Given the description of an element on the screen output the (x, y) to click on. 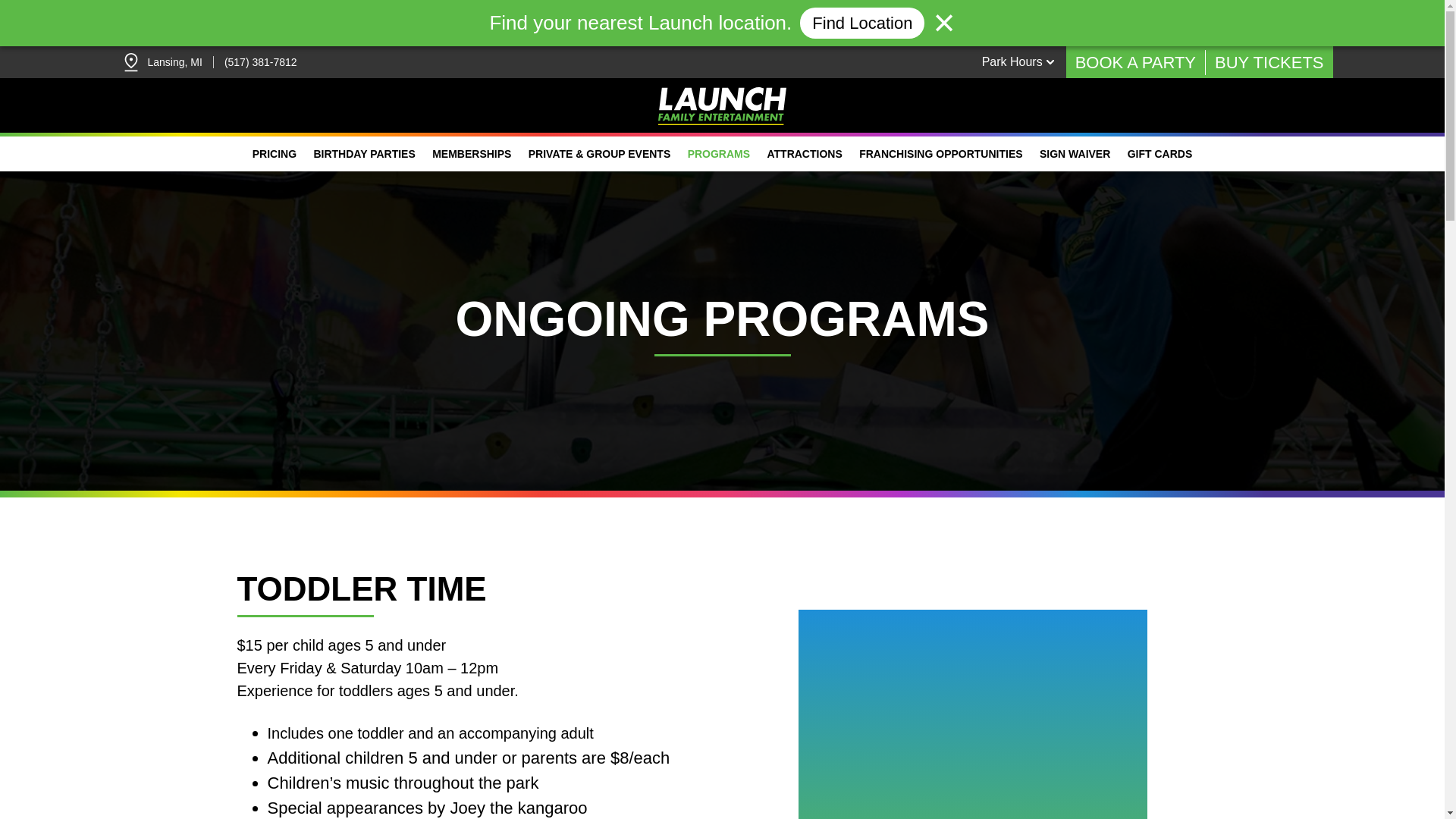
Find Location (861, 22)
Park Hours (1023, 60)
BOOK A PARTY (1135, 62)
ATTRACTIONS (804, 153)
YouTube player (971, 729)
Return to Homepage (721, 105)
MEMBERSHIPS (471, 153)
Change Location (130, 61)
Lansing, MI (174, 61)
SIGN WAIVER (1074, 153)
